Given the description of an element on the screen output the (x, y) to click on. 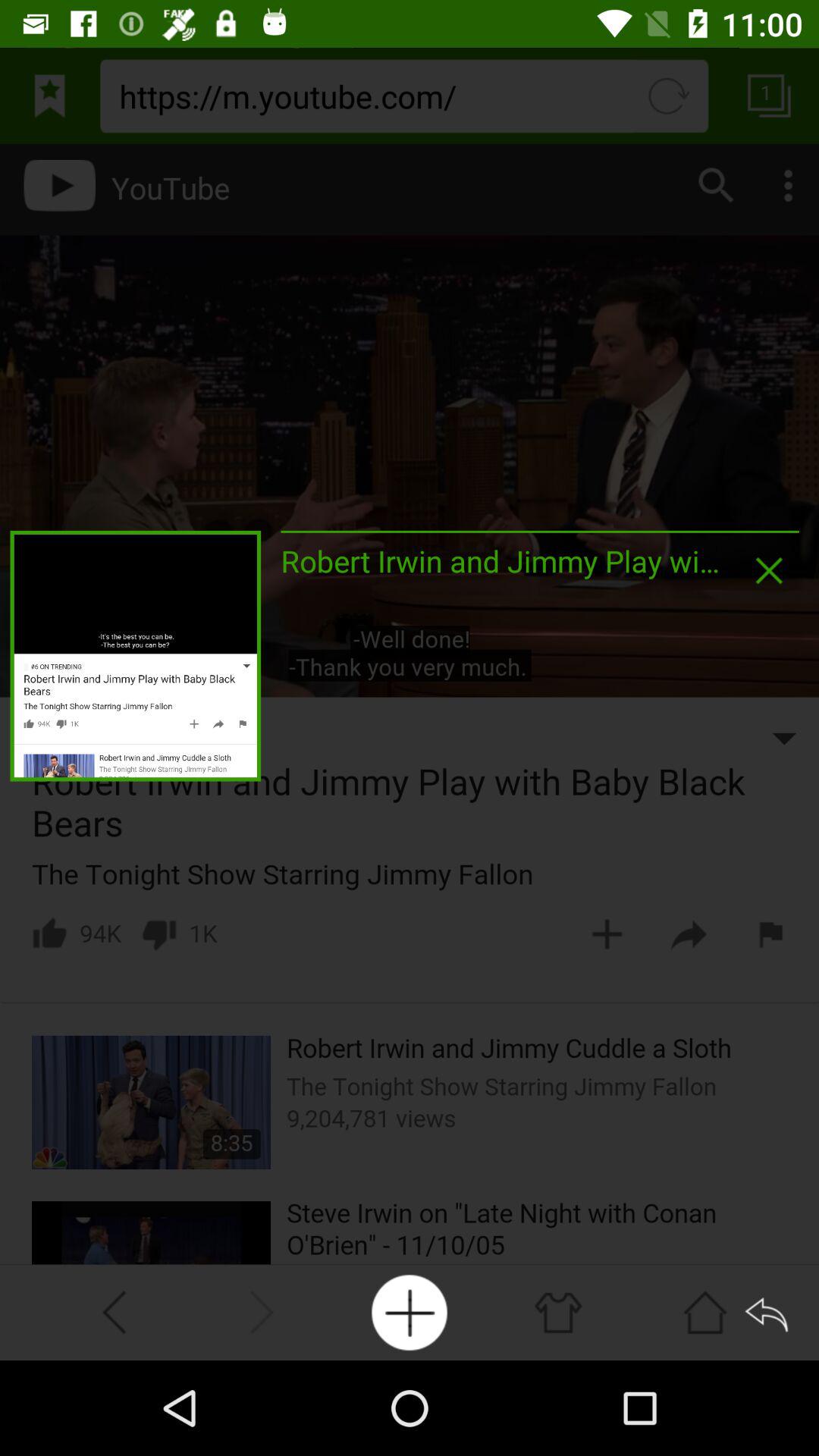
select to close the pop up (769, 570)
